Given the description of an element on the screen output the (x, y) to click on. 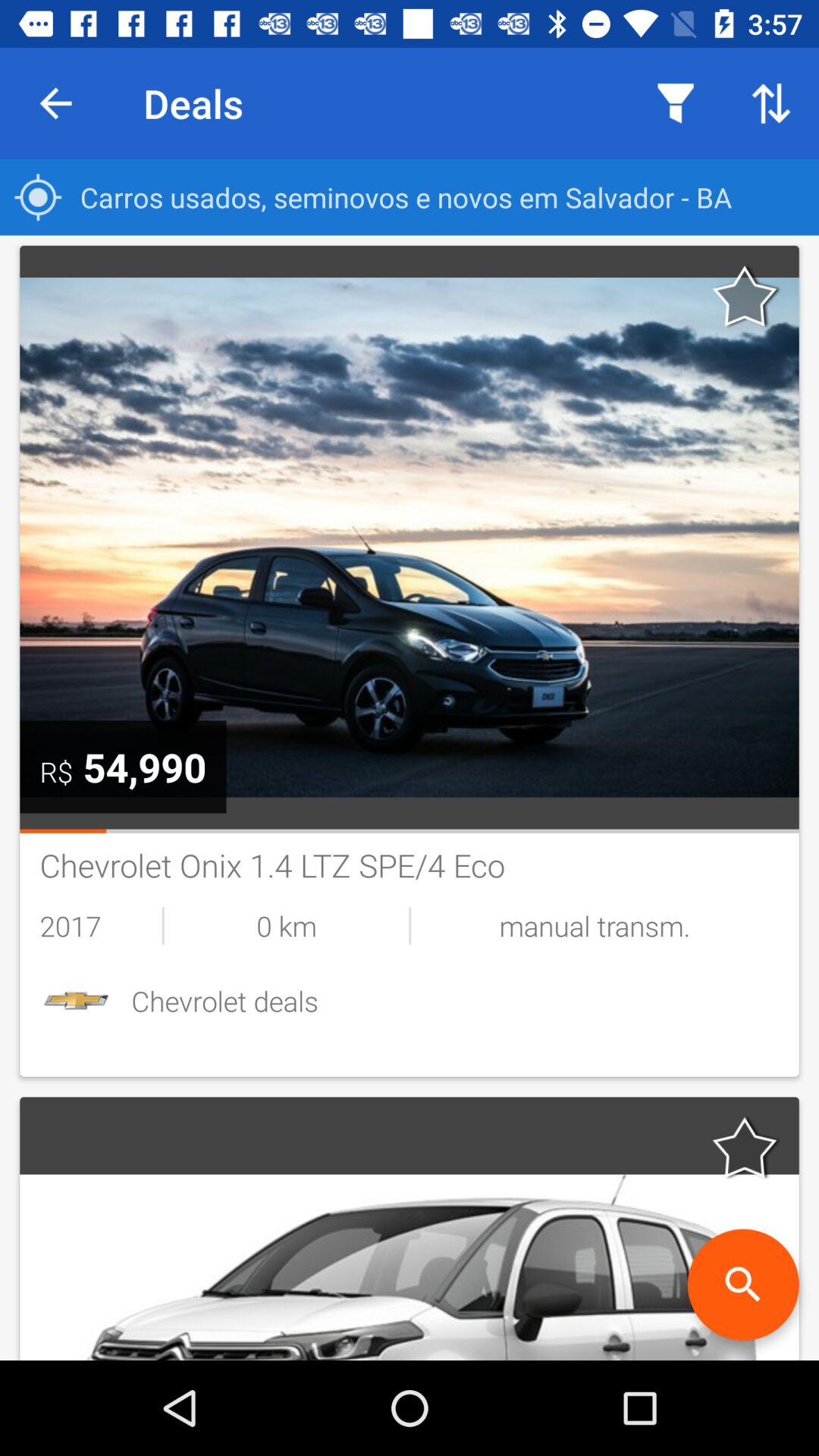
favorite (745, 295)
